Given the description of an element on the screen output the (x, y) to click on. 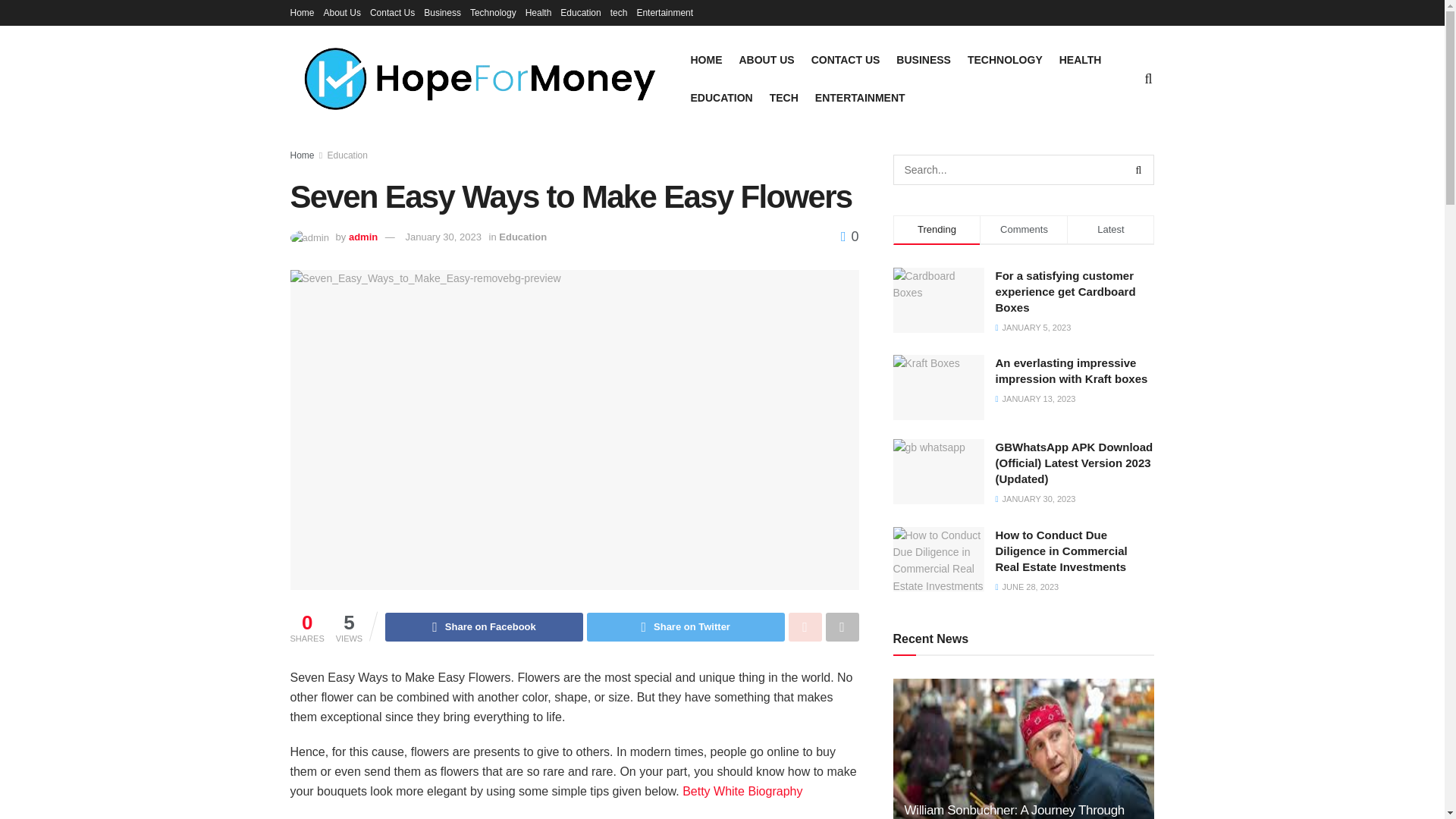
ENTERTAINMENT (860, 97)
Contact Us (391, 12)
January 30, 2023 (442, 236)
admin (363, 236)
Home (301, 12)
EDUCATION (721, 97)
Health (538, 12)
HOME (706, 59)
ABOUT US (765, 59)
Education (579, 12)
CONTACT US (845, 59)
Business (442, 12)
TECHNOLOGY (1005, 59)
Education (347, 154)
Technology (493, 12)
